Given the description of an element on the screen output the (x, y) to click on. 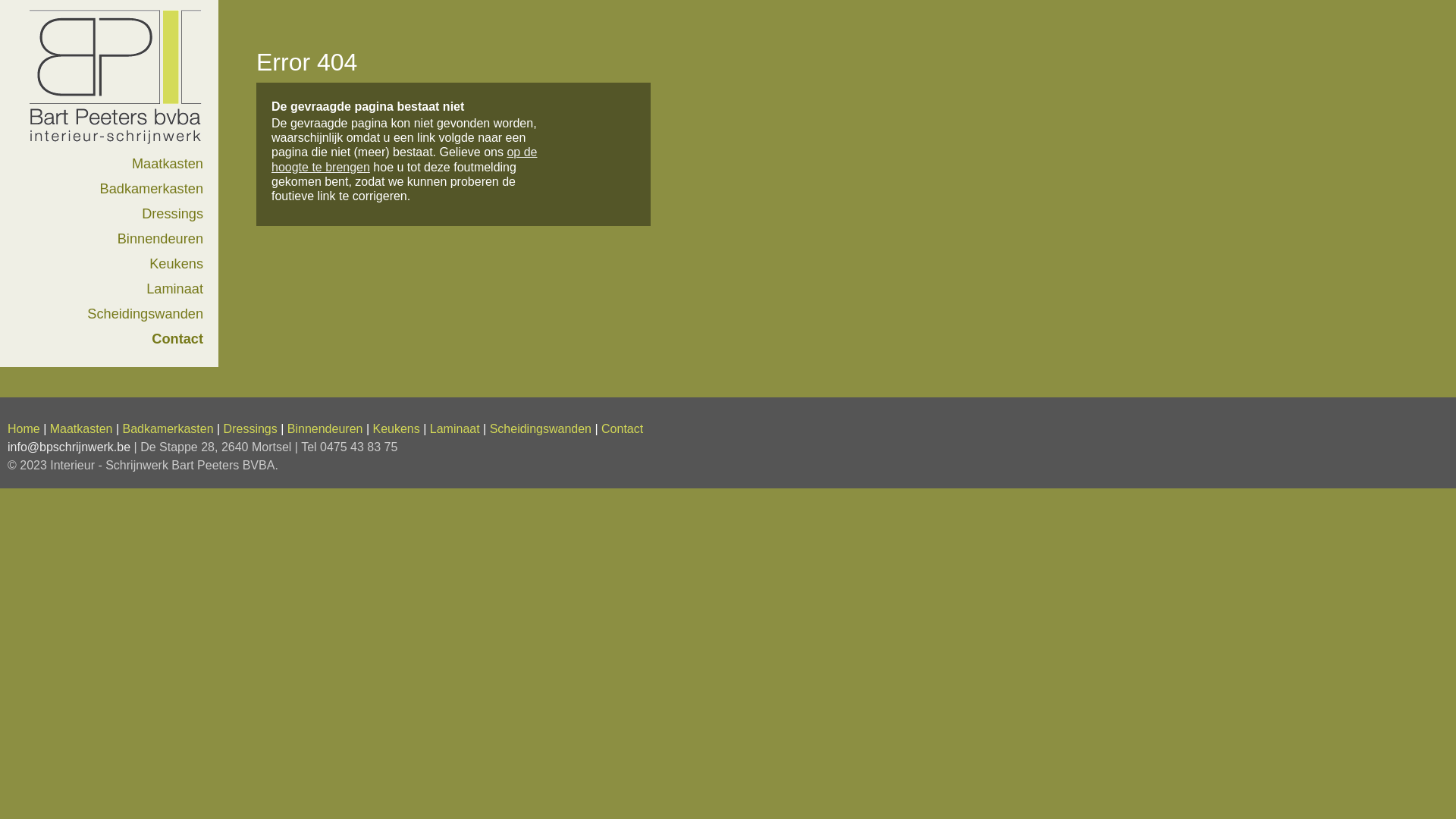
info@bpschrijnwerk.be Element type: text (68, 446)
Contact Element type: text (177, 338)
Keukens Element type: text (395, 428)
Binnendeuren Element type: text (325, 428)
Home Element type: hover (111, 145)
Badkamerkasten Element type: text (167, 428)
Maatkasten Element type: text (81, 428)
Scheidingswanden Element type: text (540, 428)
Contact Element type: text (622, 428)
Keukens Element type: text (176, 263)
Laminaat Element type: text (174, 288)
Binnendeuren Element type: text (160, 238)
Scheidingswanden Element type: text (145, 313)
Badkamerkasten Element type: text (151, 188)
op de hoogte te brengen Element type: text (403, 158)
Maatkasten Element type: text (167, 163)
Laminaat Element type: text (454, 428)
Dressings Element type: text (172, 213)
Dressings Element type: text (250, 428)
Home Element type: text (23, 428)
